Given the description of an element on the screen output the (x, y) to click on. 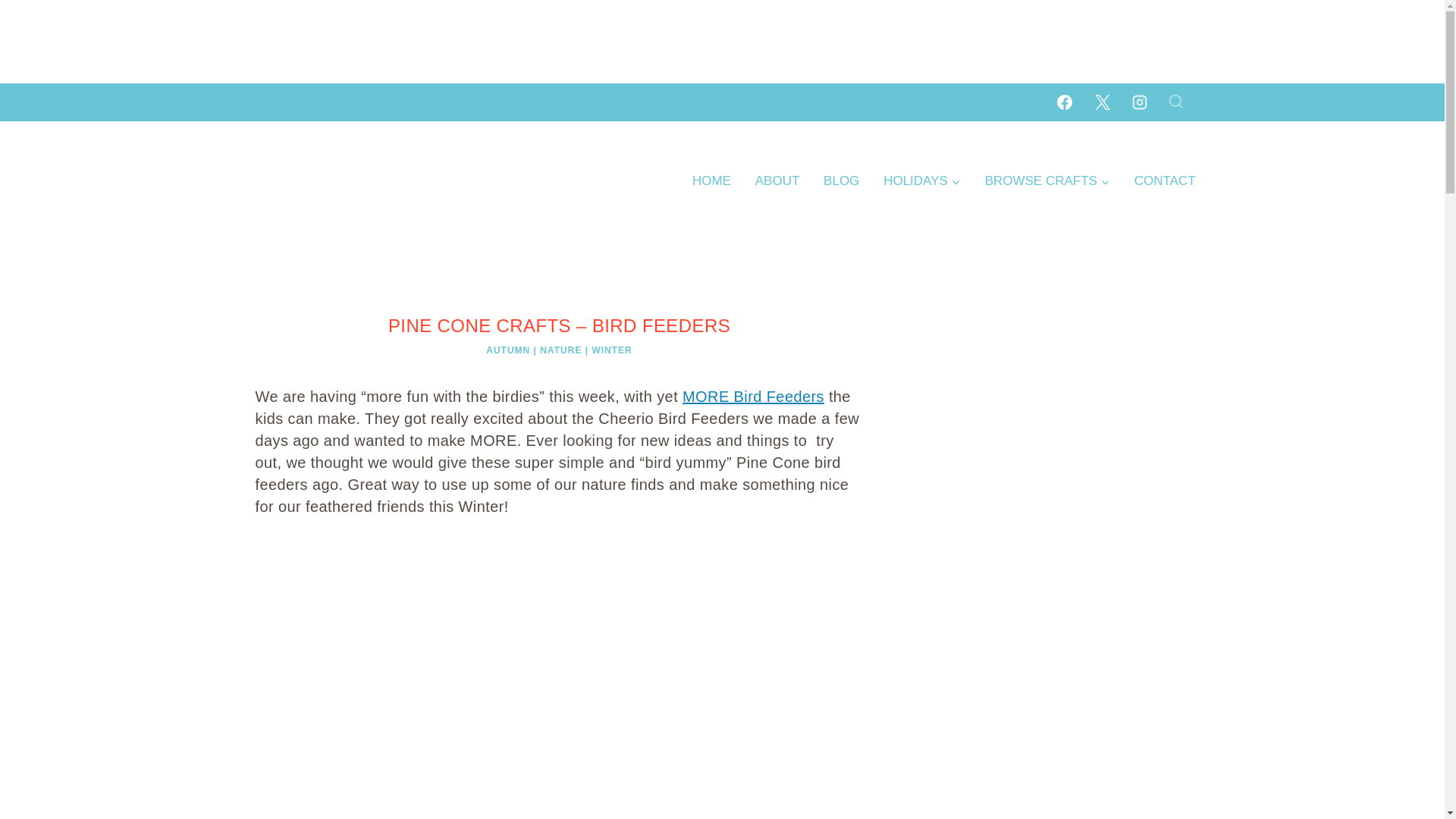
ABOUT (776, 180)
HOME (710, 180)
HOLIDAYS (921, 180)
CONTACT (1165, 180)
BROWSE CRAFTS (1047, 180)
BLOG (840, 180)
